Given the description of an element on the screen output the (x, y) to click on. 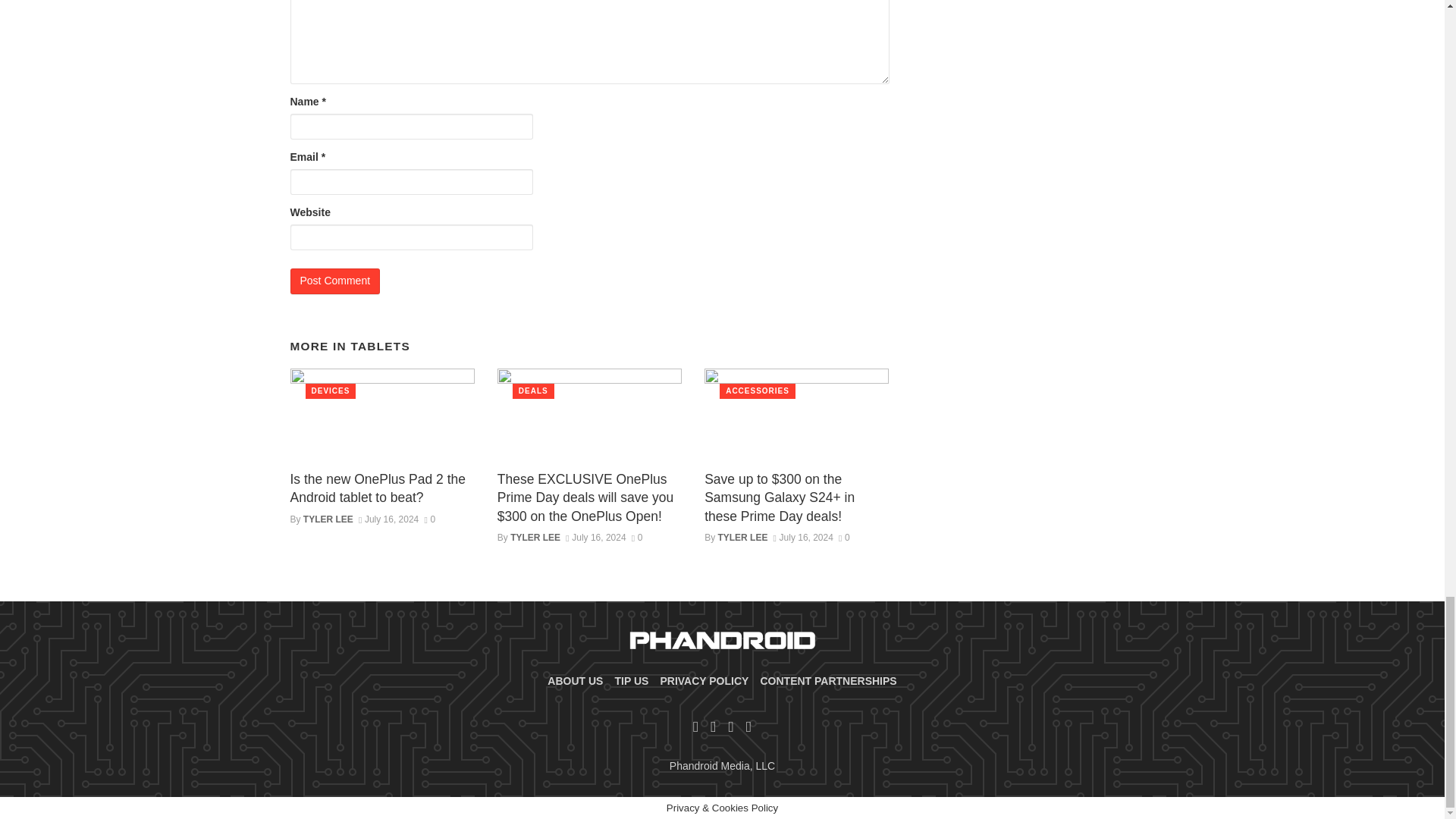
Post Comment (334, 281)
